Given the description of an element on the screen output the (x, y) to click on. 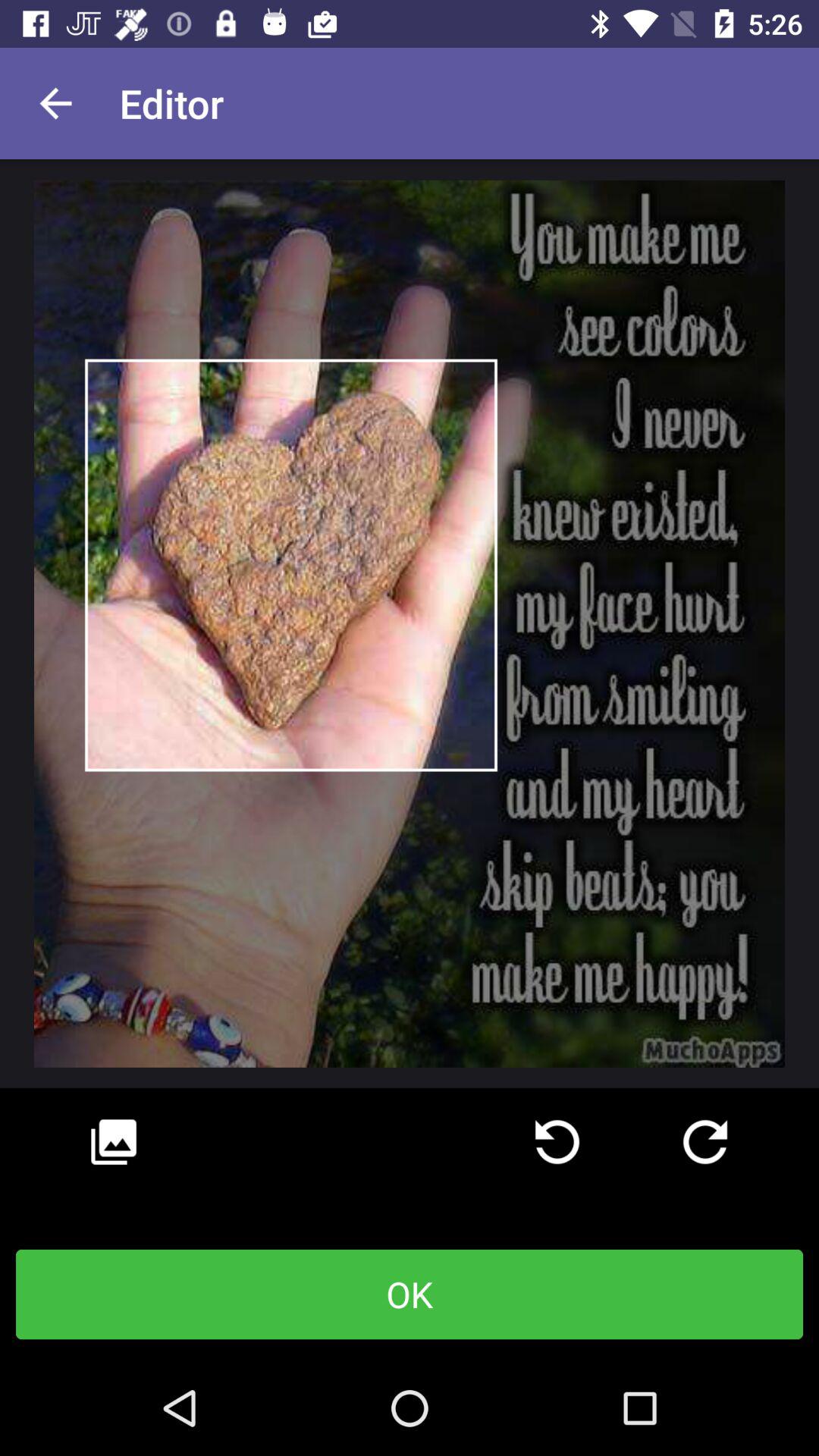
add an image (113, 1142)
